Given the description of an element on the screen output the (x, y) to click on. 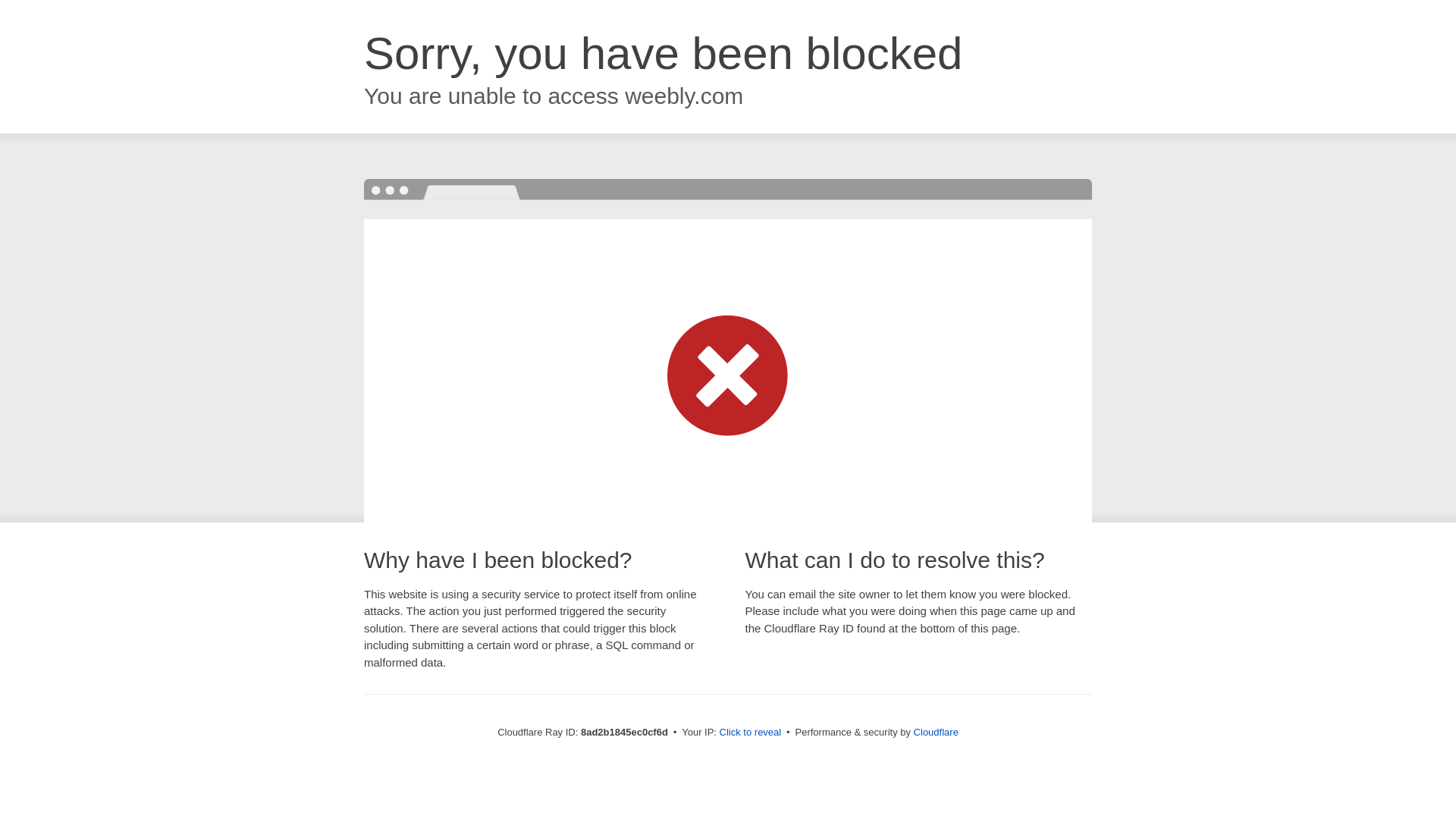
Cloudflare (936, 731)
Click to reveal (750, 732)
